Given the description of an element on the screen output the (x, y) to click on. 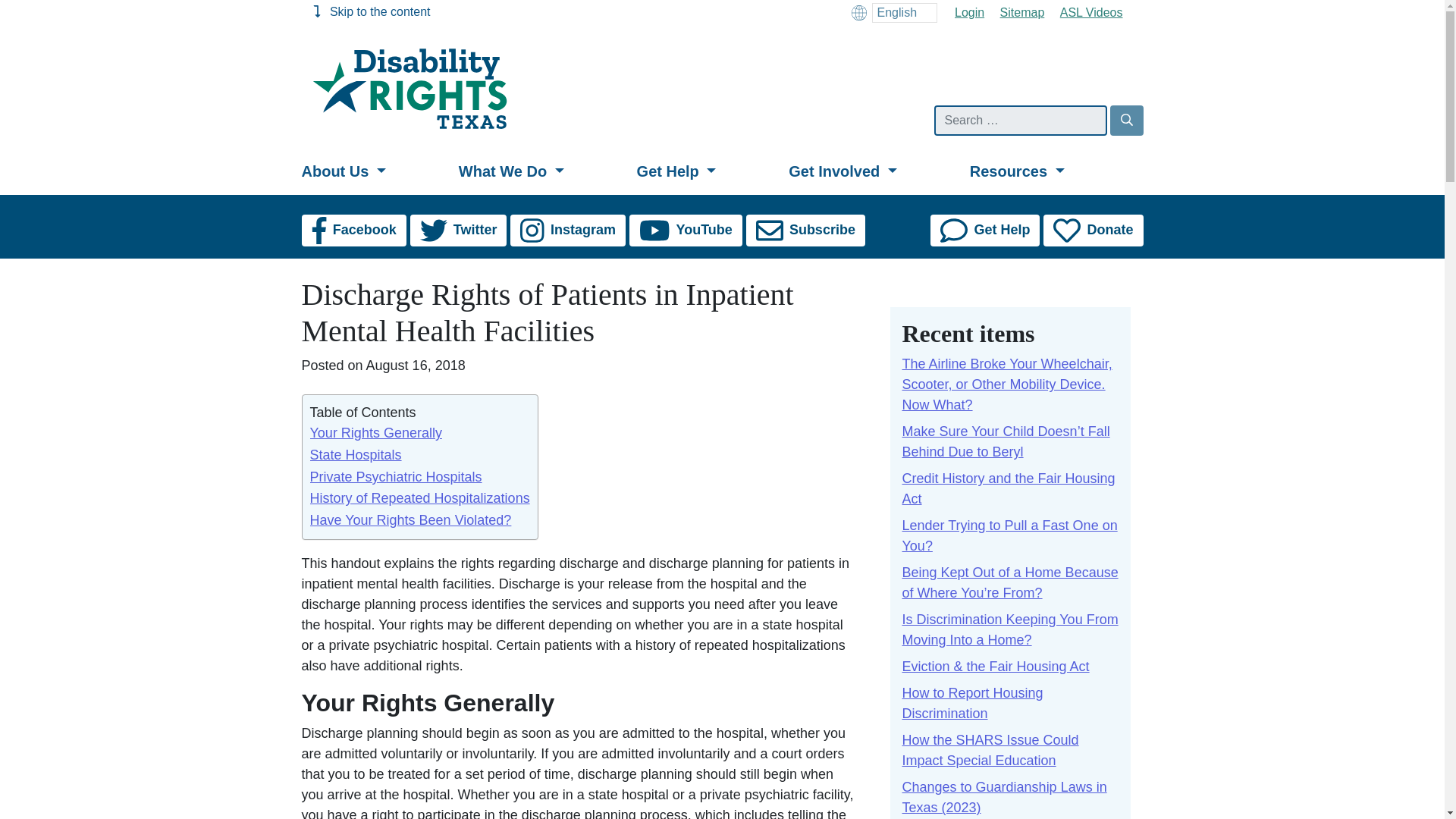
Private Psychiatric Hospitals (394, 476)
Skip to the content (371, 11)
Sitemap (1022, 12)
About Us (376, 171)
Have Your Rights Been Violated? (409, 519)
State Hospitals (354, 454)
Get Help (706, 171)
What We Do (541, 171)
Your Rights Generally (374, 432)
Get Involved (872, 171)
